Given the description of an element on the screen output the (x, y) to click on. 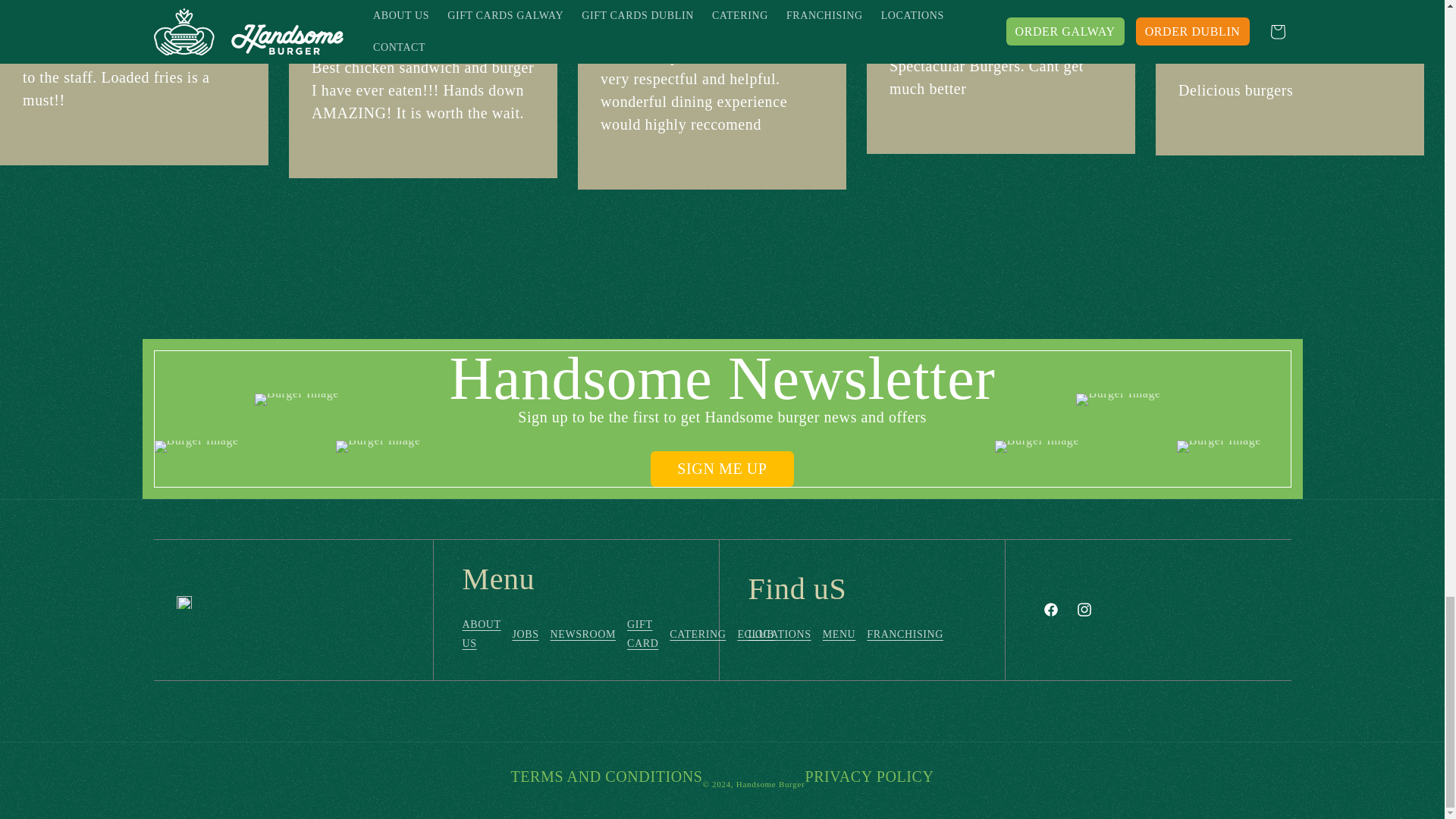
SIGN ME UP (721, 468)
NEWSROOM (582, 633)
JOBS (525, 633)
